Given the description of an element on the screen output the (x, y) to click on. 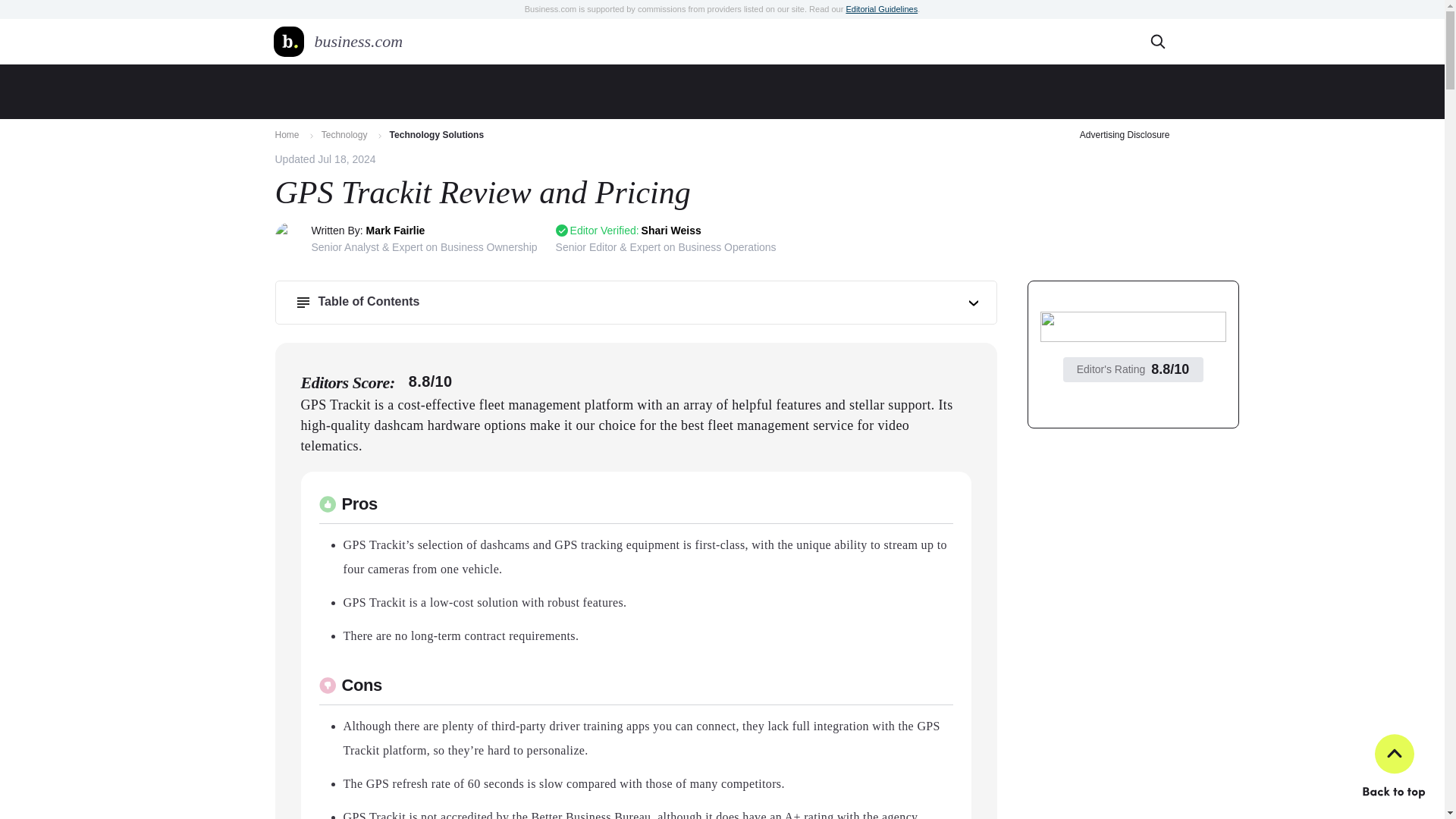
Arrow (379, 136)
Verified Check (561, 230)
Arrow (311, 136)
Editorial Guidelines (881, 8)
Open row (973, 303)
Back to top (1393, 766)
BDC Logo (287, 41)
